Given the description of an element on the screen output the (x, y) to click on. 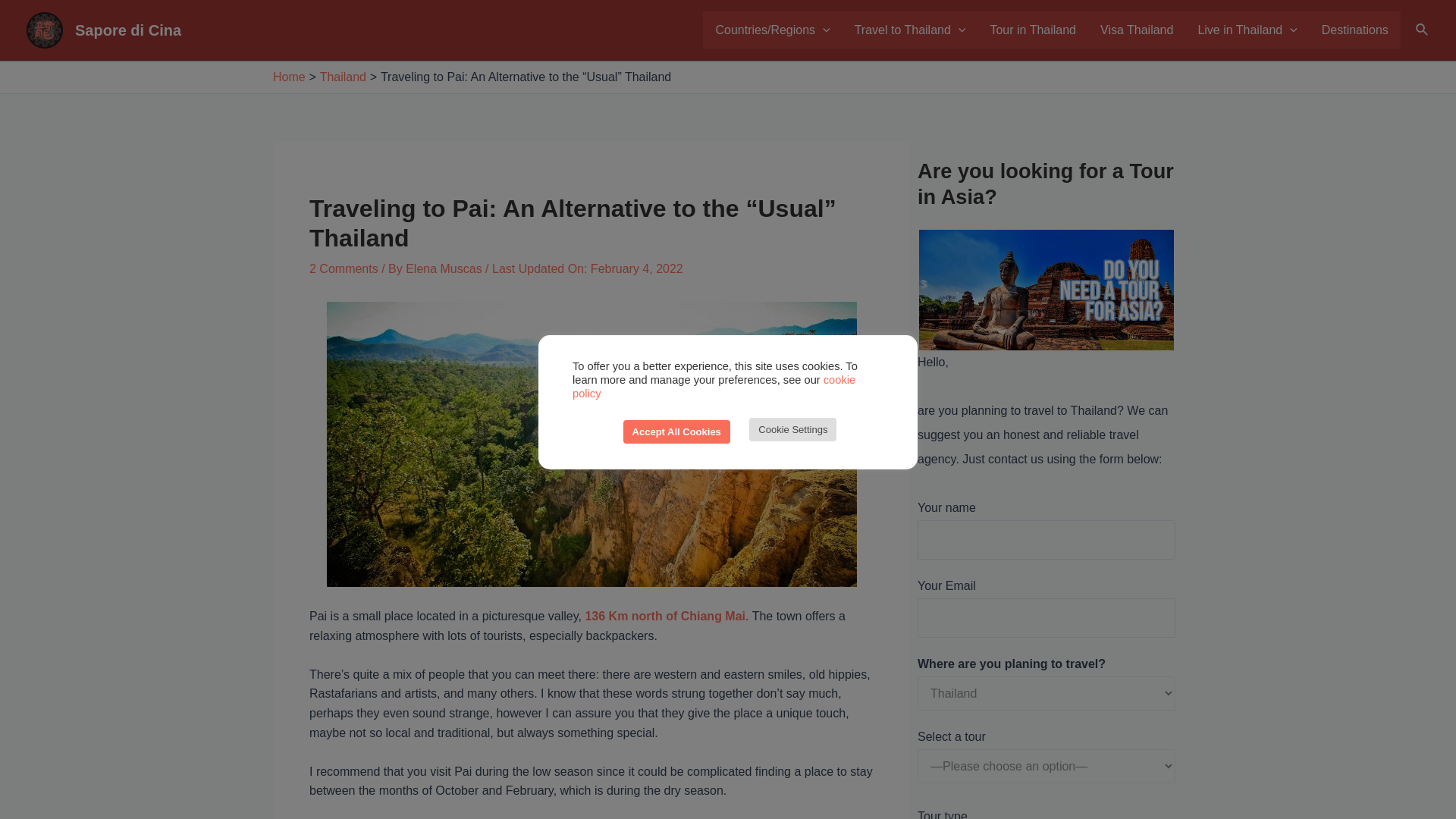
Live in Thailand (1246, 30)
Sapore di Cina (127, 30)
Search (1422, 30)
unclickable (1246, 30)
Home (289, 76)
Destinations (1354, 30)
Travel to Thailand (910, 30)
View all posts by Elena Muscas (445, 268)
Visa Thailand (1136, 30)
unclickable (910, 30)
Thailand (343, 76)
Tour in Thailand (1031, 30)
